Given the description of an element on the screen output the (x, y) to click on. 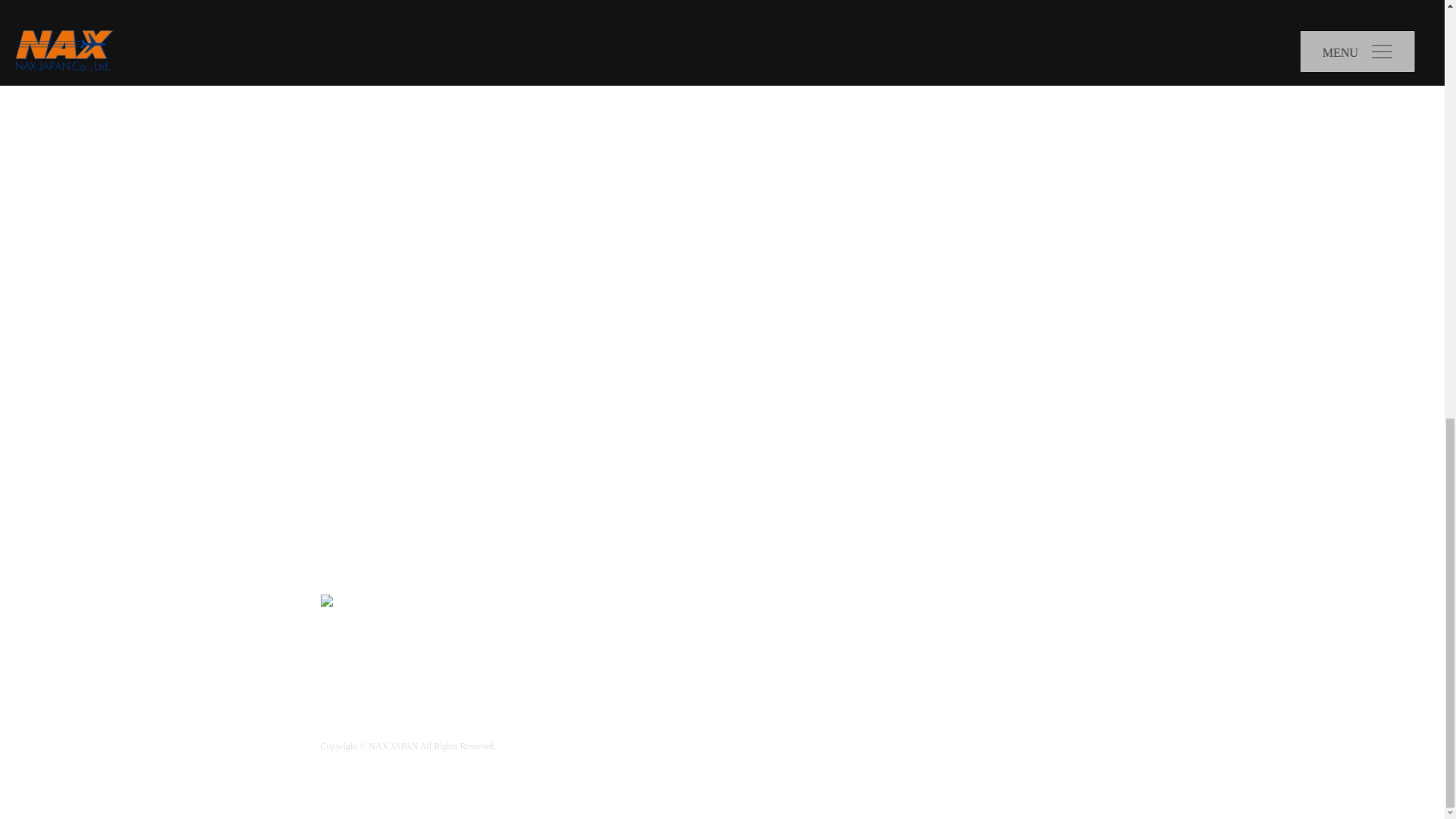
HOME (717, 601)
PRIVACY (725, 719)
NEWS (782, 601)
HISTORY (986, 638)
ENVIRONMENT (978, 674)
SOLUTIONS (861, 601)
INFORMATION (907, 638)
PHILOSOPHY (819, 638)
CONTACT (894, 719)
CHALLENGE (739, 674)
OFFICE (1047, 638)
CERTIFICATION (1075, 674)
RECRUIT (809, 719)
DIGITAL TRANSFORMATION (854, 674)
